Given the description of an element on the screen output the (x, y) to click on. 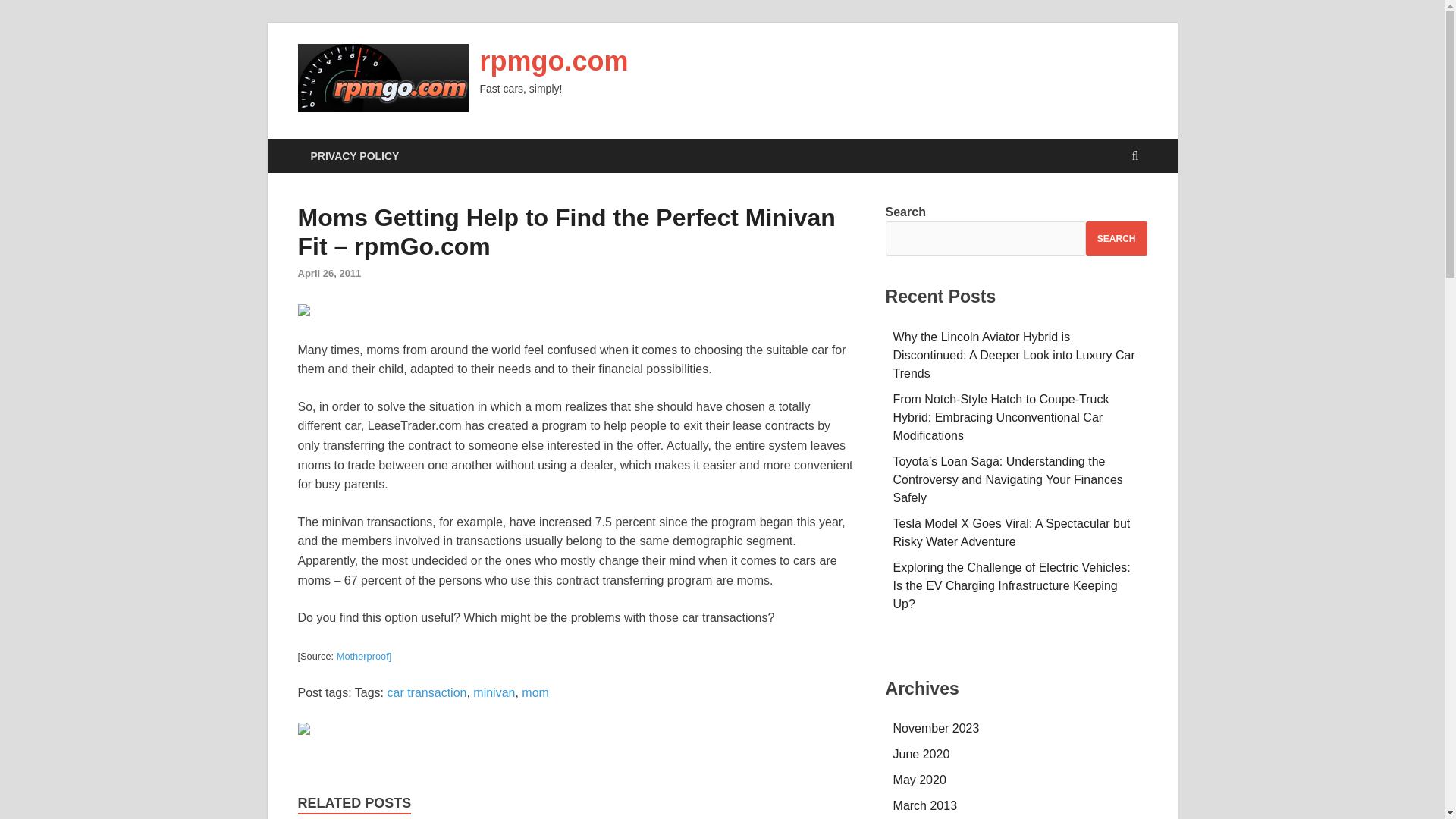
mom (534, 692)
November 2023 (936, 727)
minivan (494, 692)
May 2020 (919, 779)
rpmgo.com (553, 60)
March 2013 (925, 805)
SEARCH (1116, 238)
